Given the description of an element on the screen output the (x, y) to click on. 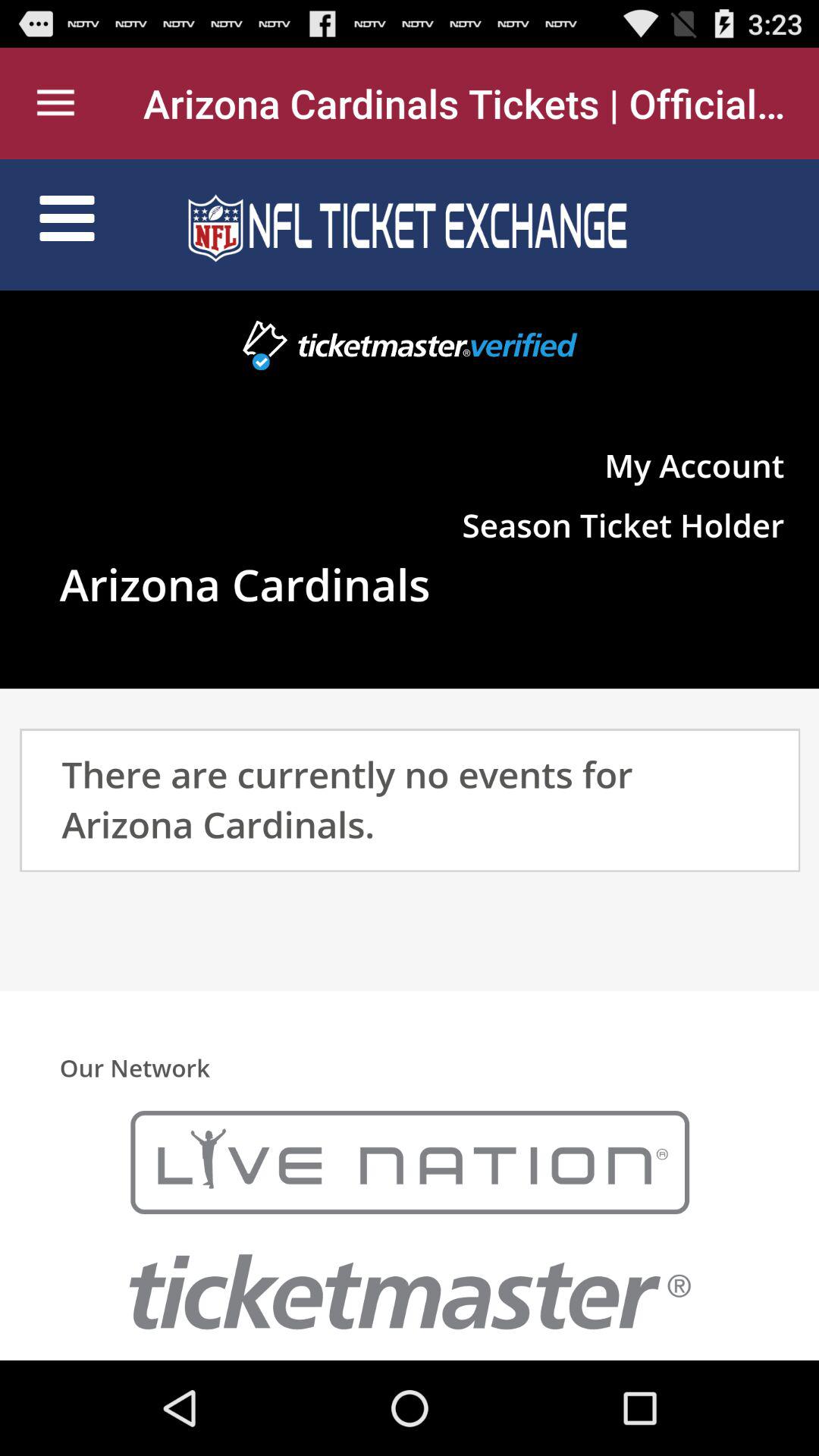
navigation area (409, 759)
